Given the description of an element on the screen output the (x, y) to click on. 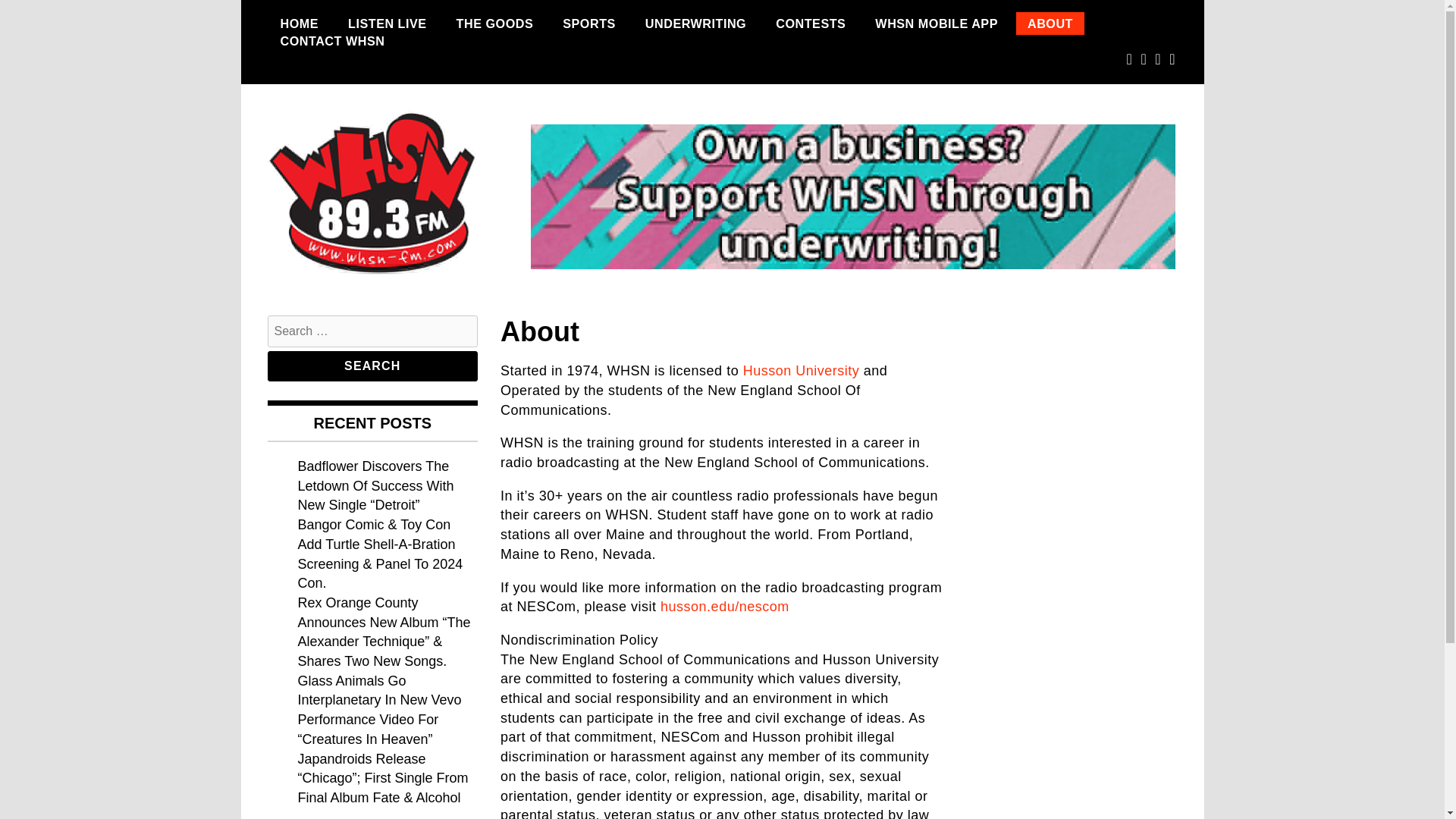
CONTESTS (810, 23)
SPORTS (589, 23)
CONTACT WHSN (331, 40)
THE GOODS (494, 23)
Search (371, 366)
HOME (298, 23)
WHSN MOBILE APP (936, 23)
Husson University (801, 370)
UNDERWRITING (695, 23)
Search (371, 366)
WHSN (309, 302)
LISTEN LIVE (387, 23)
Search (371, 366)
underwritingbanner (852, 196)
ABOUT (1050, 23)
